Given the description of an element on the screen output the (x, y) to click on. 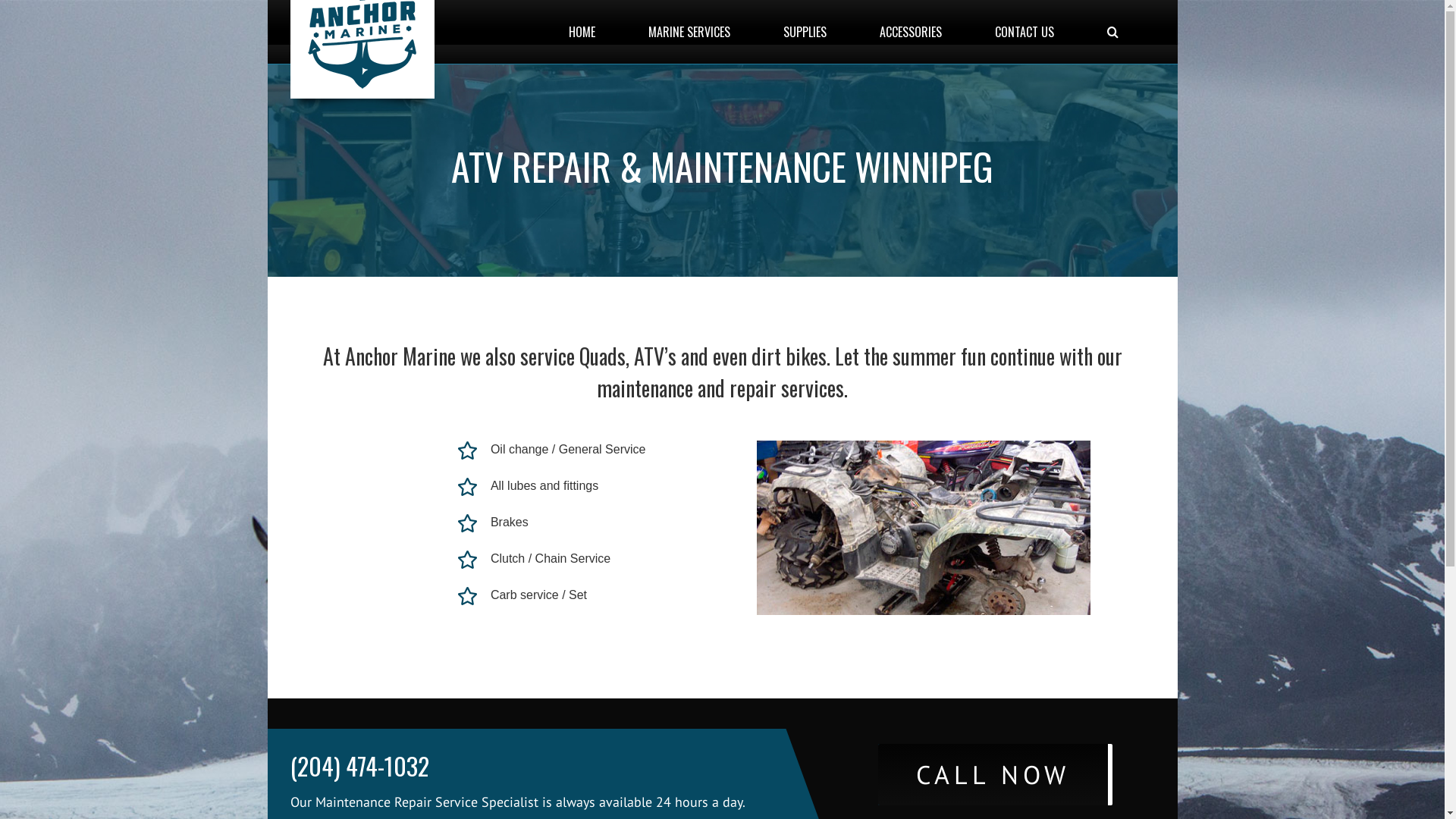
MARINE SERVICES Element type: text (688, 31)
atv repair mechanic winnipeg Element type: hover (923, 527)
HOME Element type: text (582, 31)
Search Element type: hover (1112, 31)
CONTACT US Element type: text (1024, 31)
SUPPLIES Element type: text (804, 31)
ACCESSORIES Element type: text (910, 31)
CALL NOW Element type: text (995, 774)
